Given the description of an element on the screen output the (x, y) to click on. 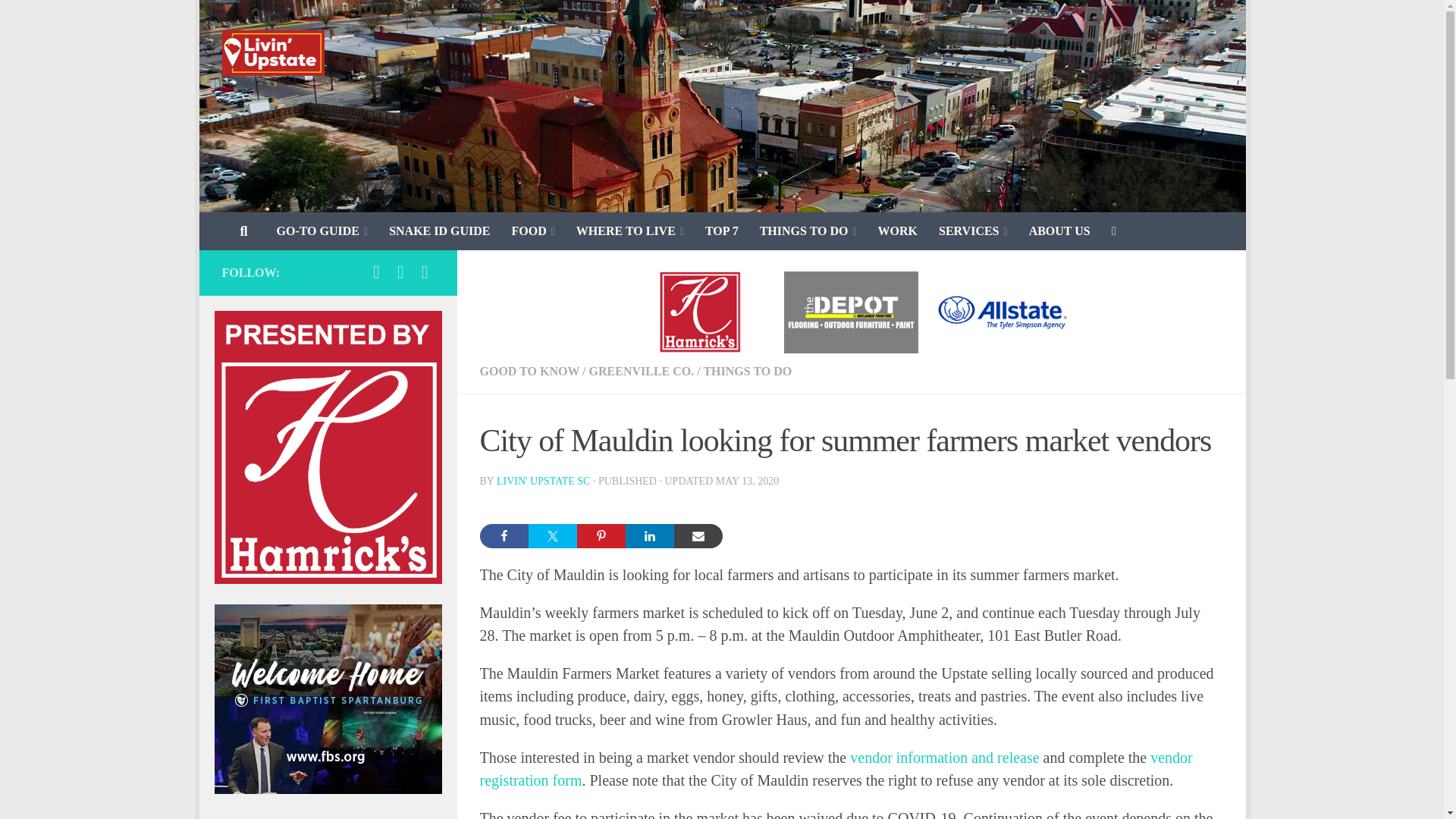
Follow us on Twitter (400, 271)
Share on Facebook (503, 535)
Posts by Livin' Upstate SC (543, 480)
Share on Twitter (551, 535)
Follow us on Instagram (423, 271)
Share via Email (697, 535)
Share on LinkedIn (648, 535)
Share on Pinterest (600, 535)
Follow us on Facebook (375, 271)
